Given the description of an element on the screen output the (x, y) to click on. 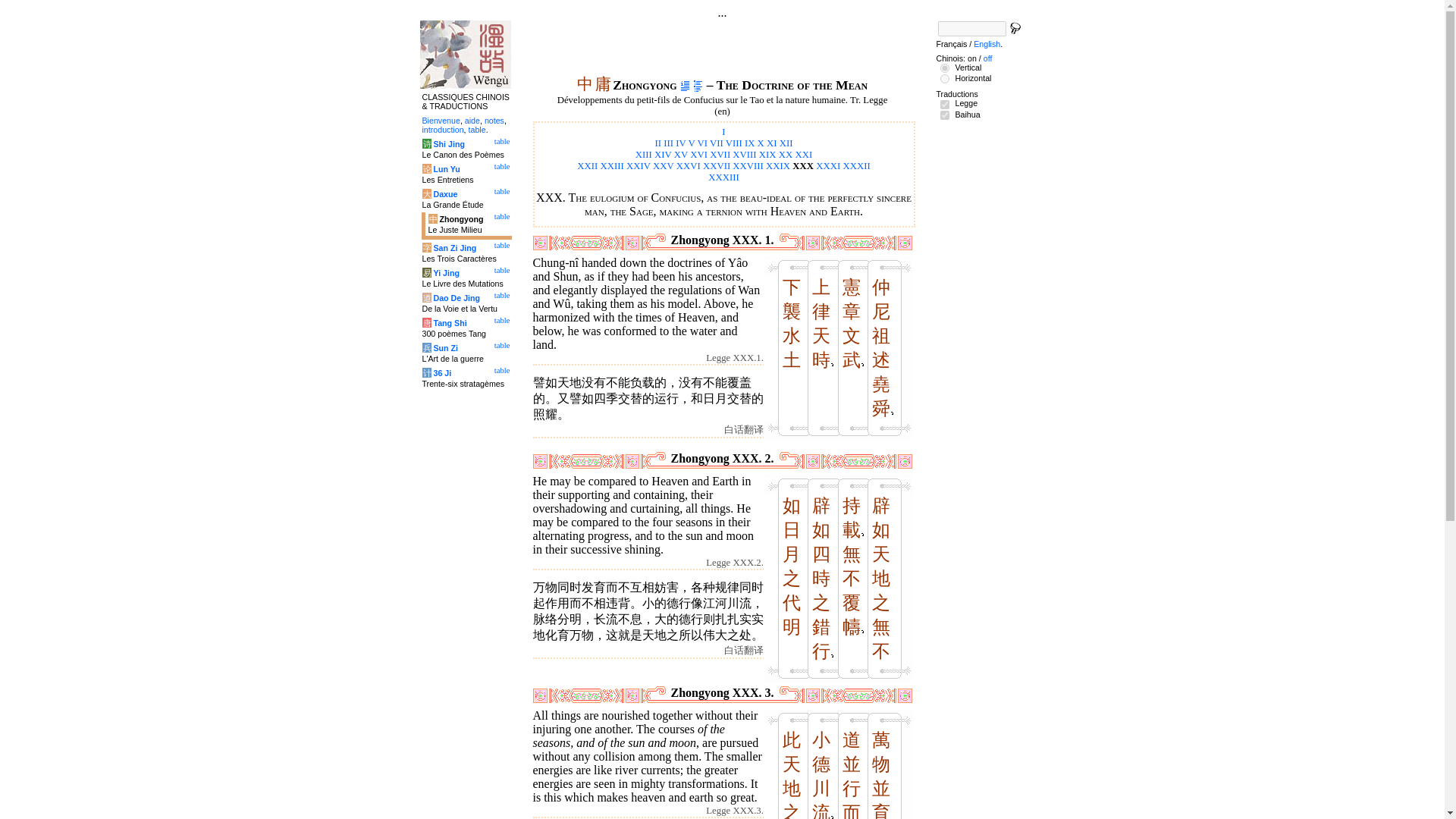
XV (680, 154)
IX (749, 143)
XIII (643, 154)
XXIII (611, 165)
XXXIII (723, 176)
XIX (767, 154)
XXXI (827, 165)
III (667, 143)
XIV (662, 154)
XII (785, 143)
